Given the description of an element on the screen output the (x, y) to click on. 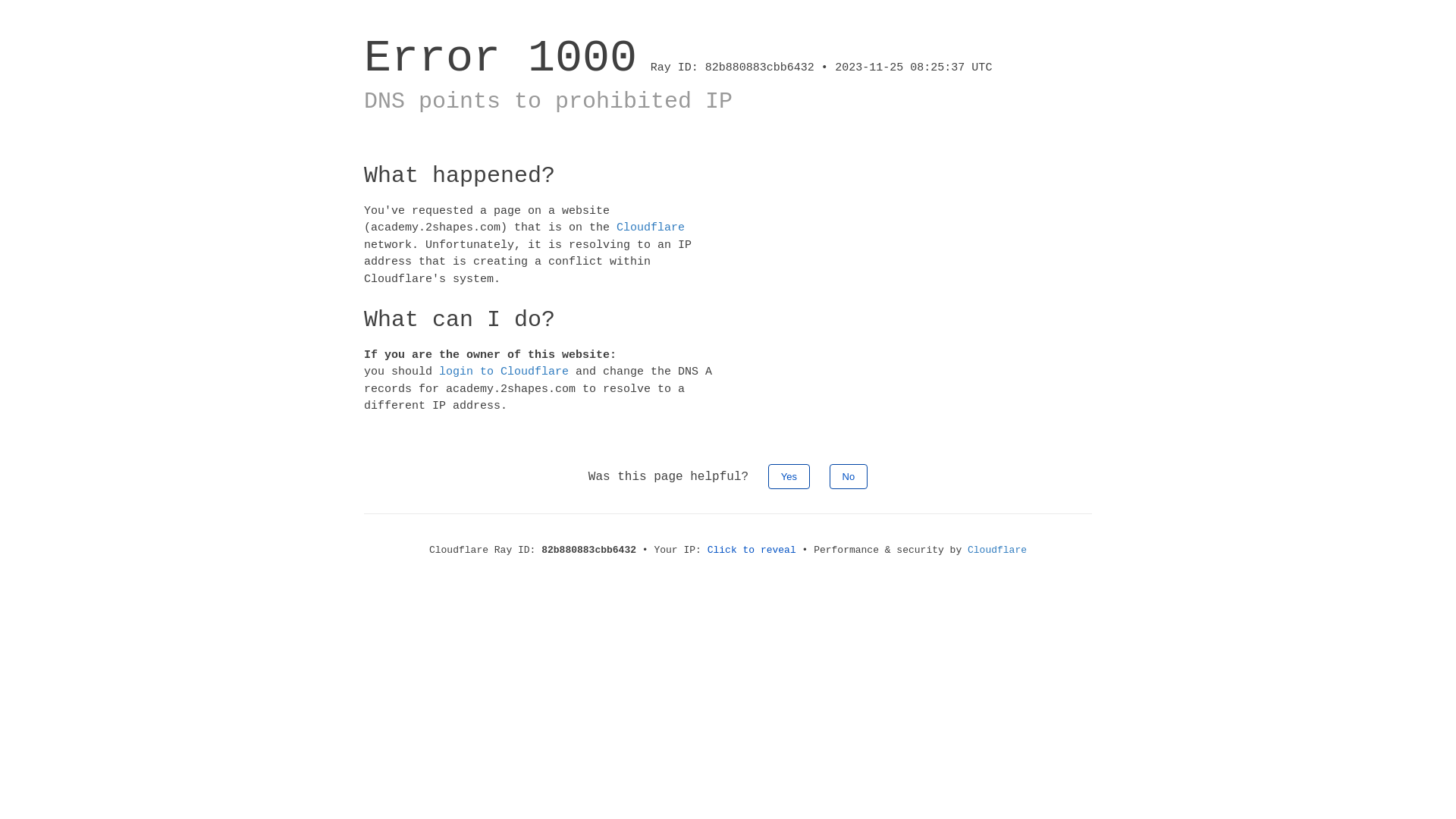
No Element type: text (848, 476)
Yes Element type: text (788, 476)
login to Cloudflare Element type: text (503, 371)
Click to reveal Element type: text (751, 549)
Cloudflare Element type: text (650, 227)
Cloudflare Element type: text (996, 549)
